Given the description of an element on the screen output the (x, y) to click on. 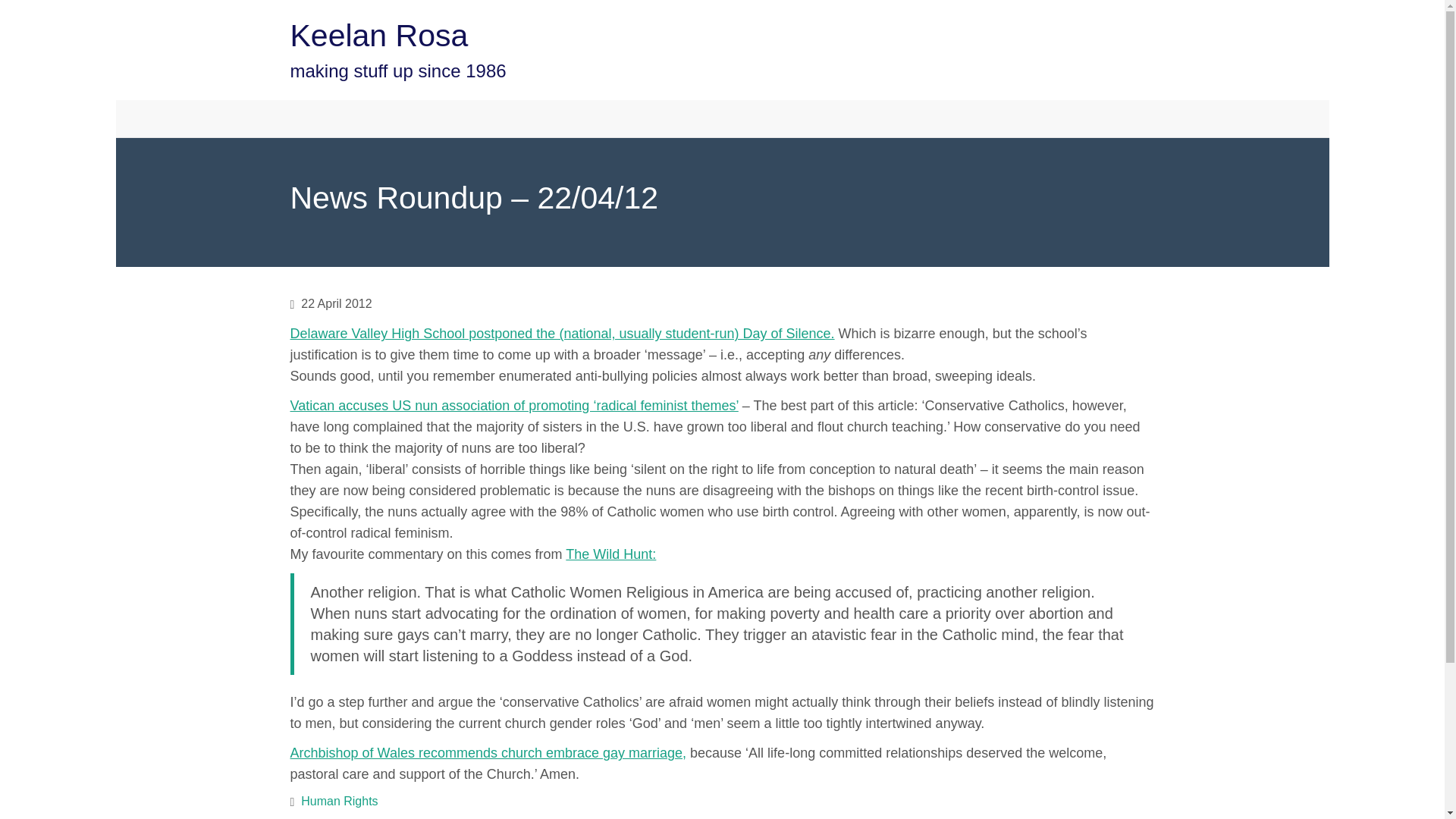
Keelan Rosa (378, 35)
The Wild Hunt: (611, 554)
Keelan Rosa (333, 118)
Archbishop of Wales recommends church embrace gay marriage, (487, 752)
Human Rights (339, 800)
